Given the description of an element on the screen output the (x, y) to click on. 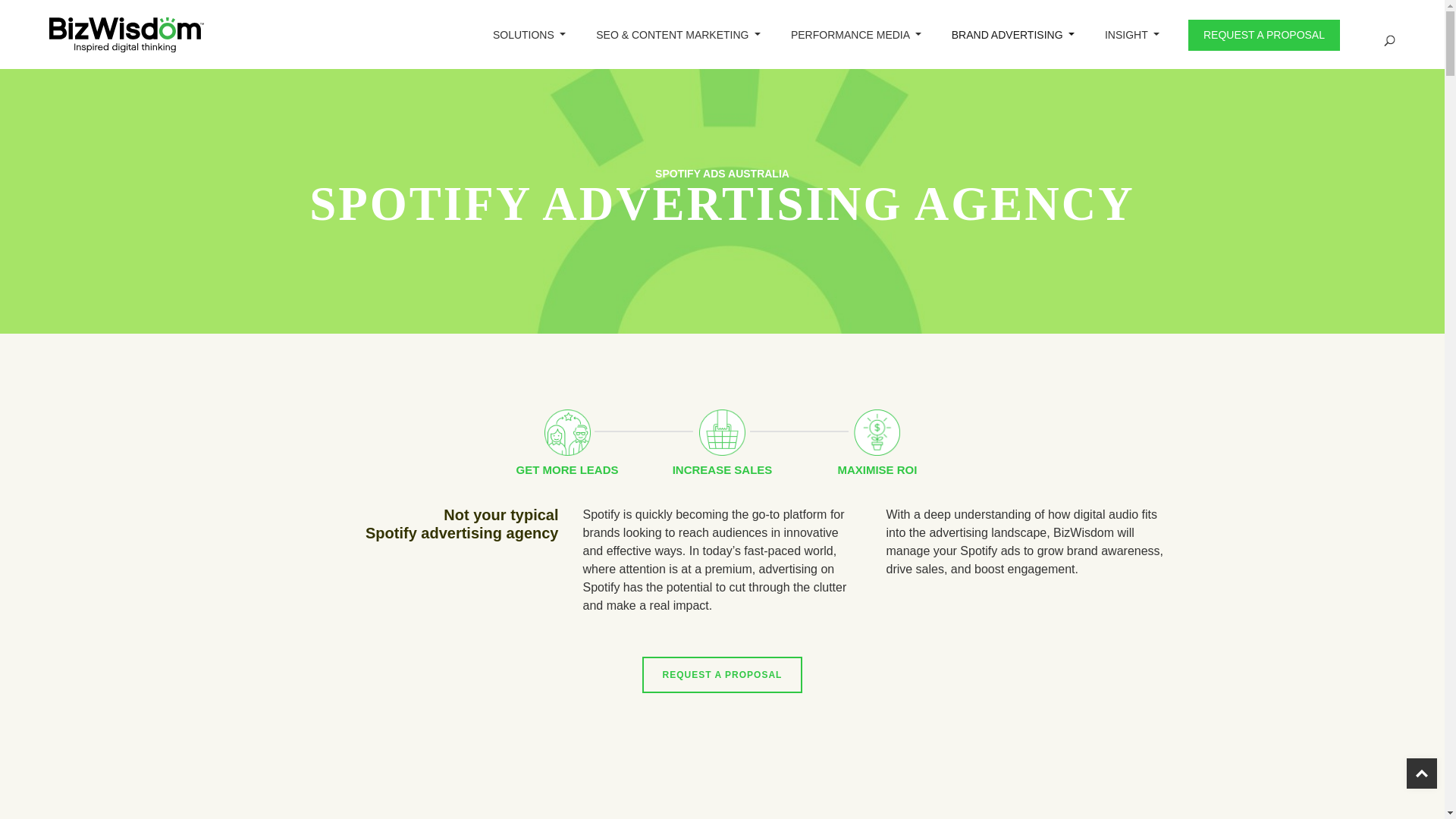
INSIGHT (1131, 34)
BRAND ADVERTISING (1012, 34)
REQUEST A PROPOSAL (1263, 34)
PERFORMANCE MEDIA (856, 34)
SOLUTIONS (528, 34)
